Given the description of an element on the screen output the (x, y) to click on. 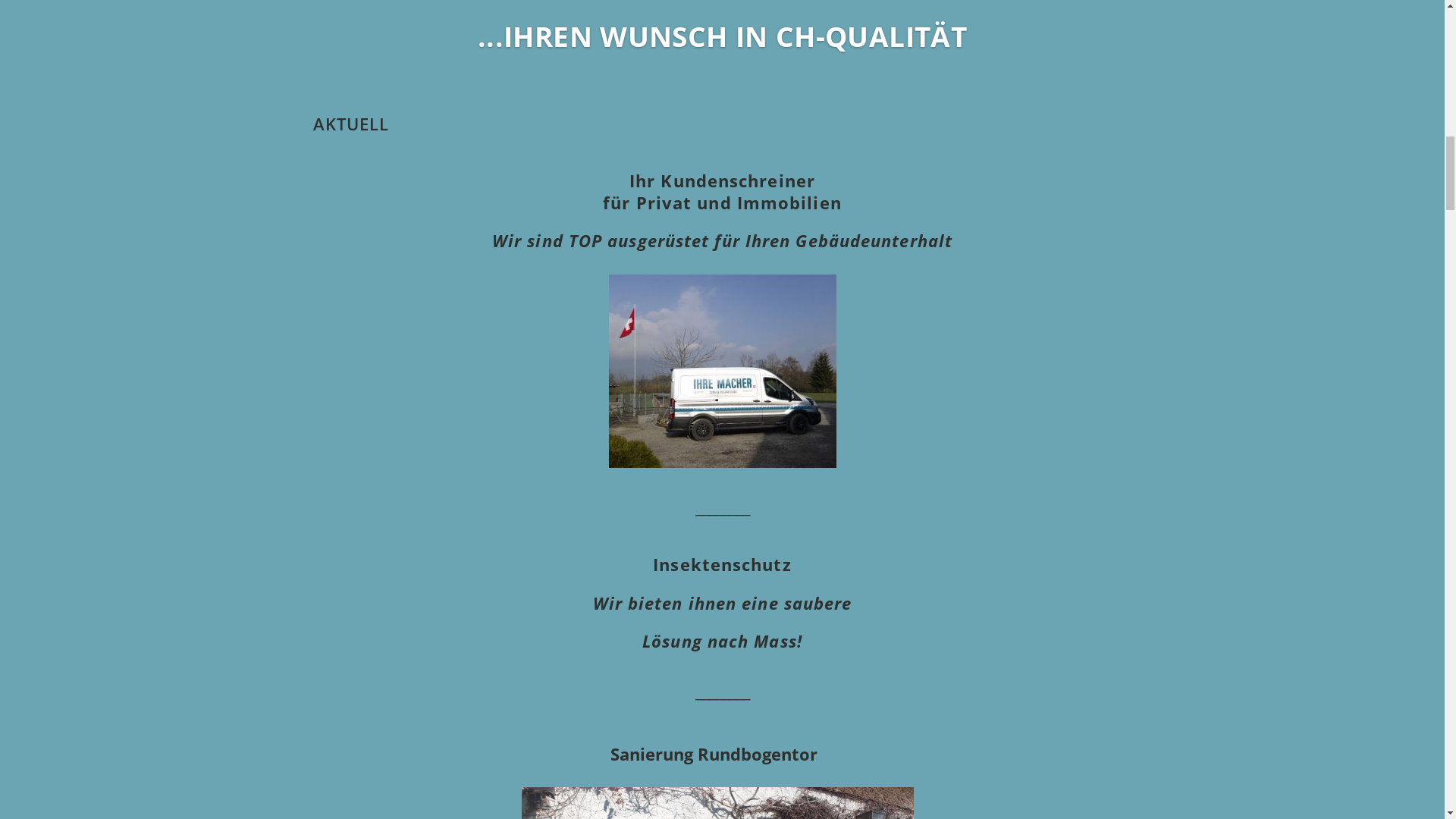
im-metermass-neu-2500px Element type: hover (722, 18)
ihre-macher-logo-600px-neu Element type: hover (397, 80)
